Given the description of an element on the screen output the (x, y) to click on. 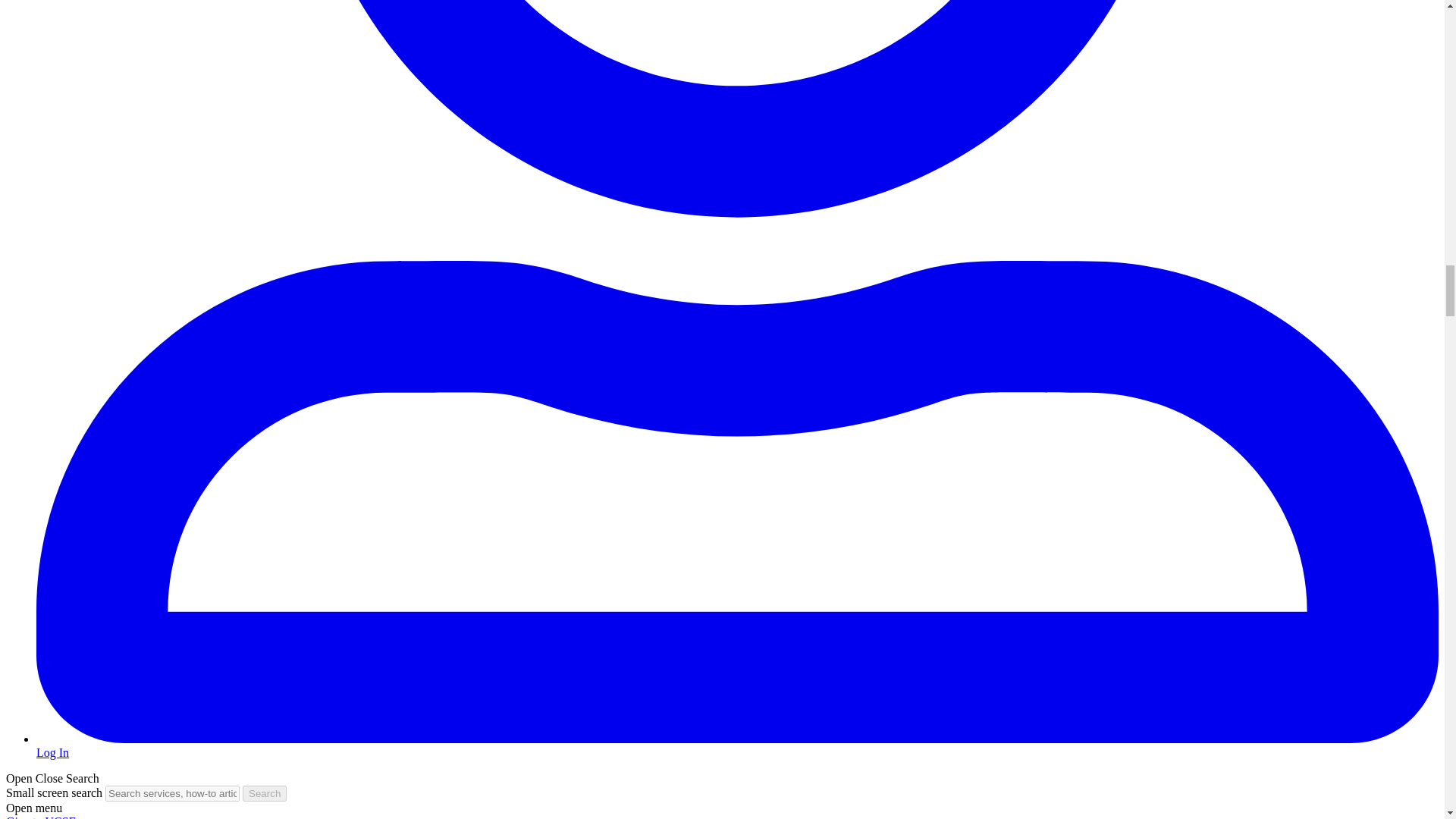
Search (264, 793)
Search (264, 793)
Search (264, 793)
Give to UCSF (40, 816)
